Given the description of an element on the screen output the (x, y) to click on. 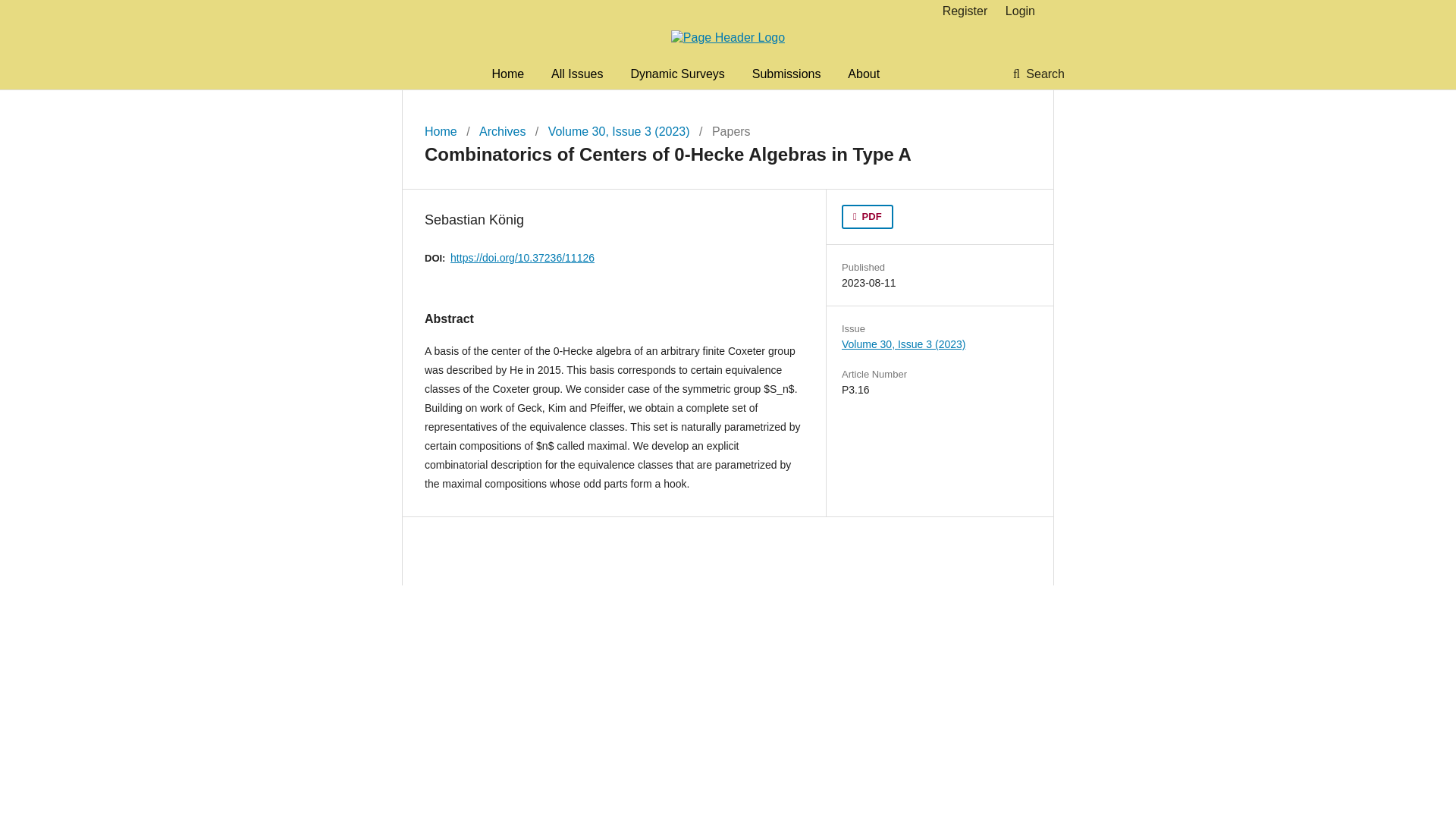
Search (1038, 73)
Submissions (786, 73)
Register (964, 11)
Archives (502, 131)
Login (1016, 11)
Dynamic Surveys (676, 73)
About (863, 73)
PDF (867, 216)
All Issues (576, 73)
Home (441, 131)
Home (508, 73)
